Given the description of an element on the screen output the (x, y) to click on. 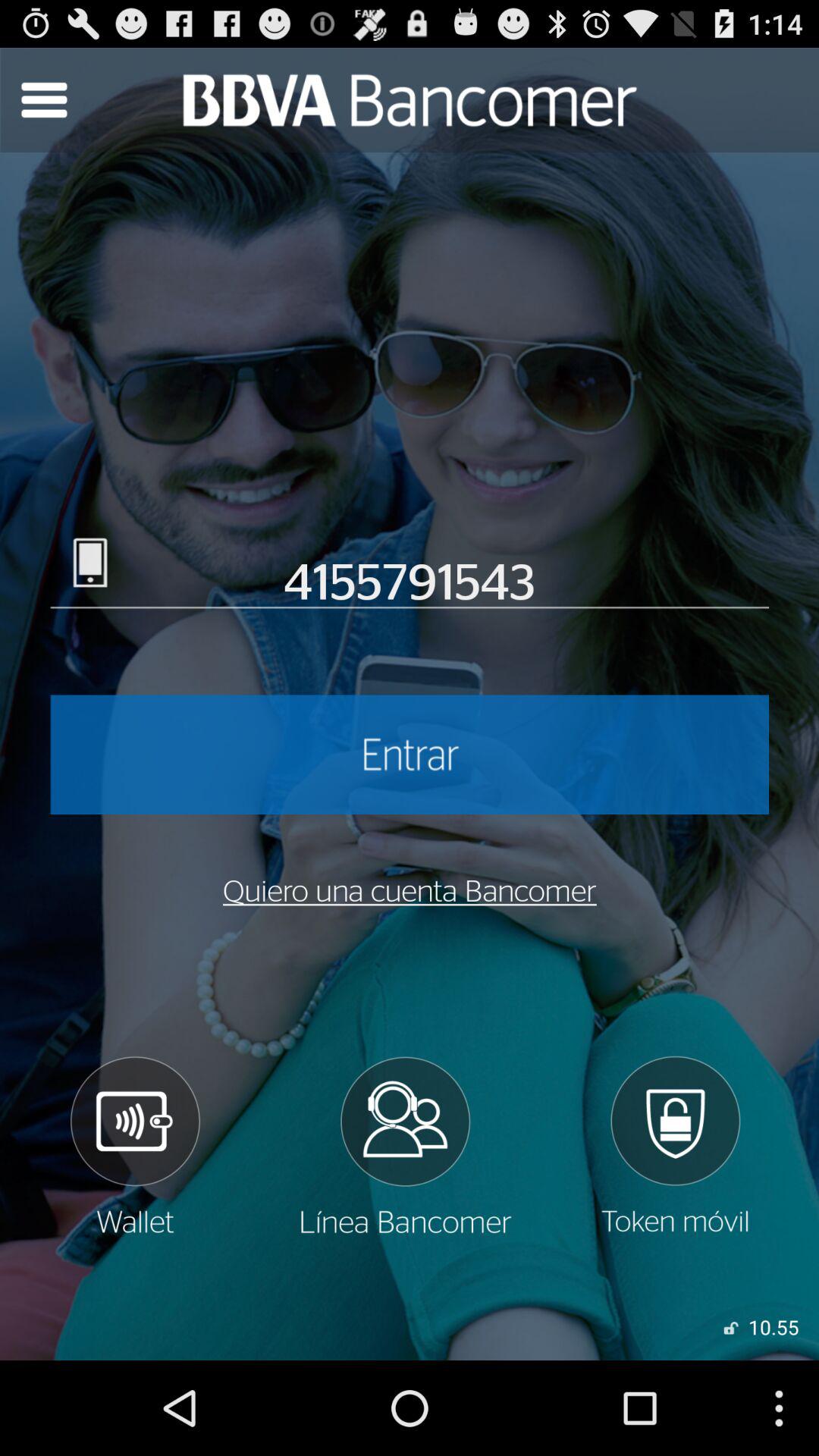
goes to your wallet (134, 1145)
